Given the description of an element on the screen output the (x, y) to click on. 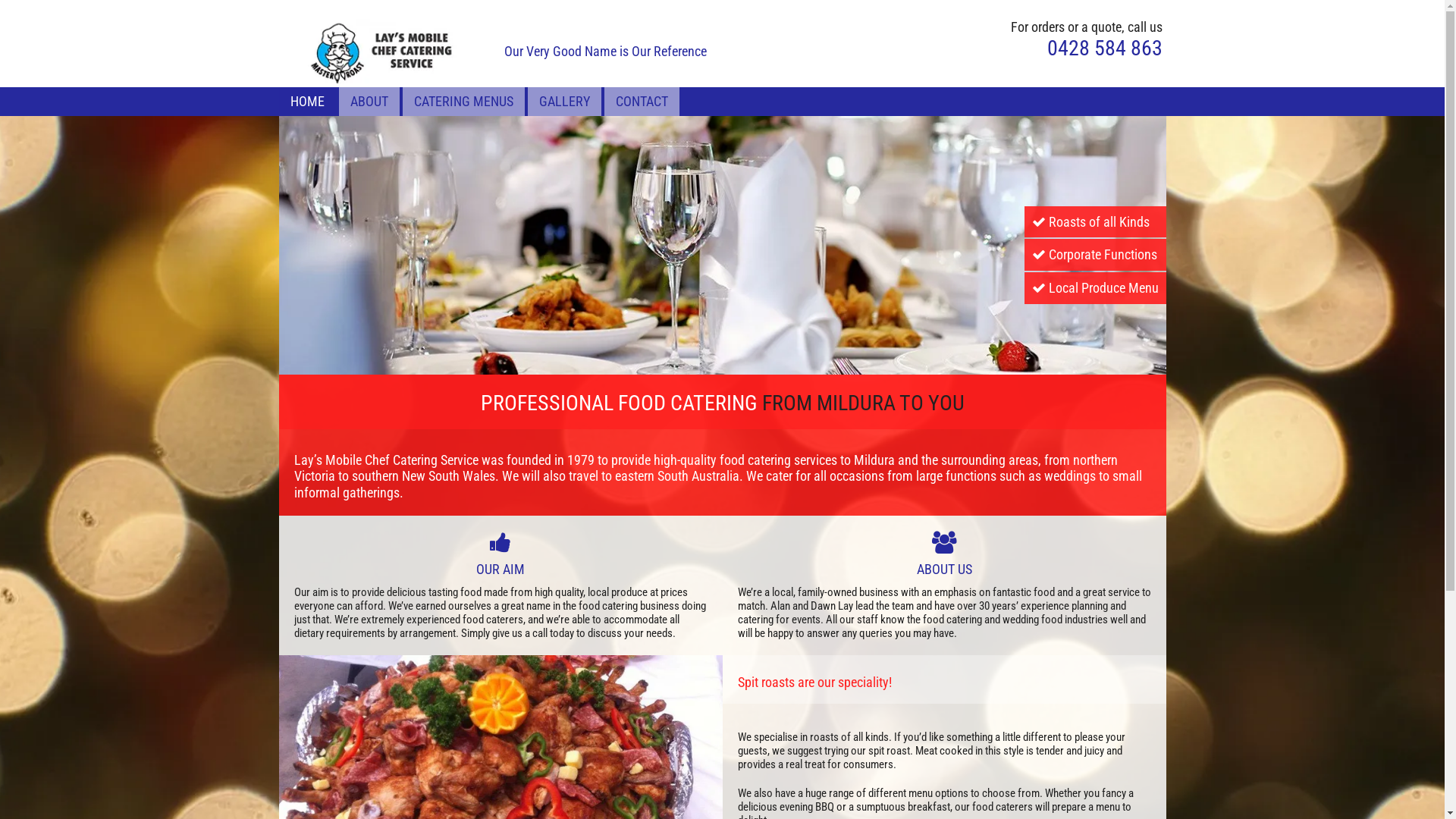
CATERING MENUS Element type: text (463, 101)
ABOUT Element type: text (369, 101)
lays mobile chef catering service wedding dinner Element type: hover (722, 245)
0428 584 863 Element type: text (1103, 47)
CONTACT Element type: text (641, 101)
HOME Element type: text (306, 101)
GALLERY Element type: text (563, 101)
lays mobile chef catering service logo Element type: hover (388, 50)
